Given the description of an element on the screen output the (x, y) to click on. 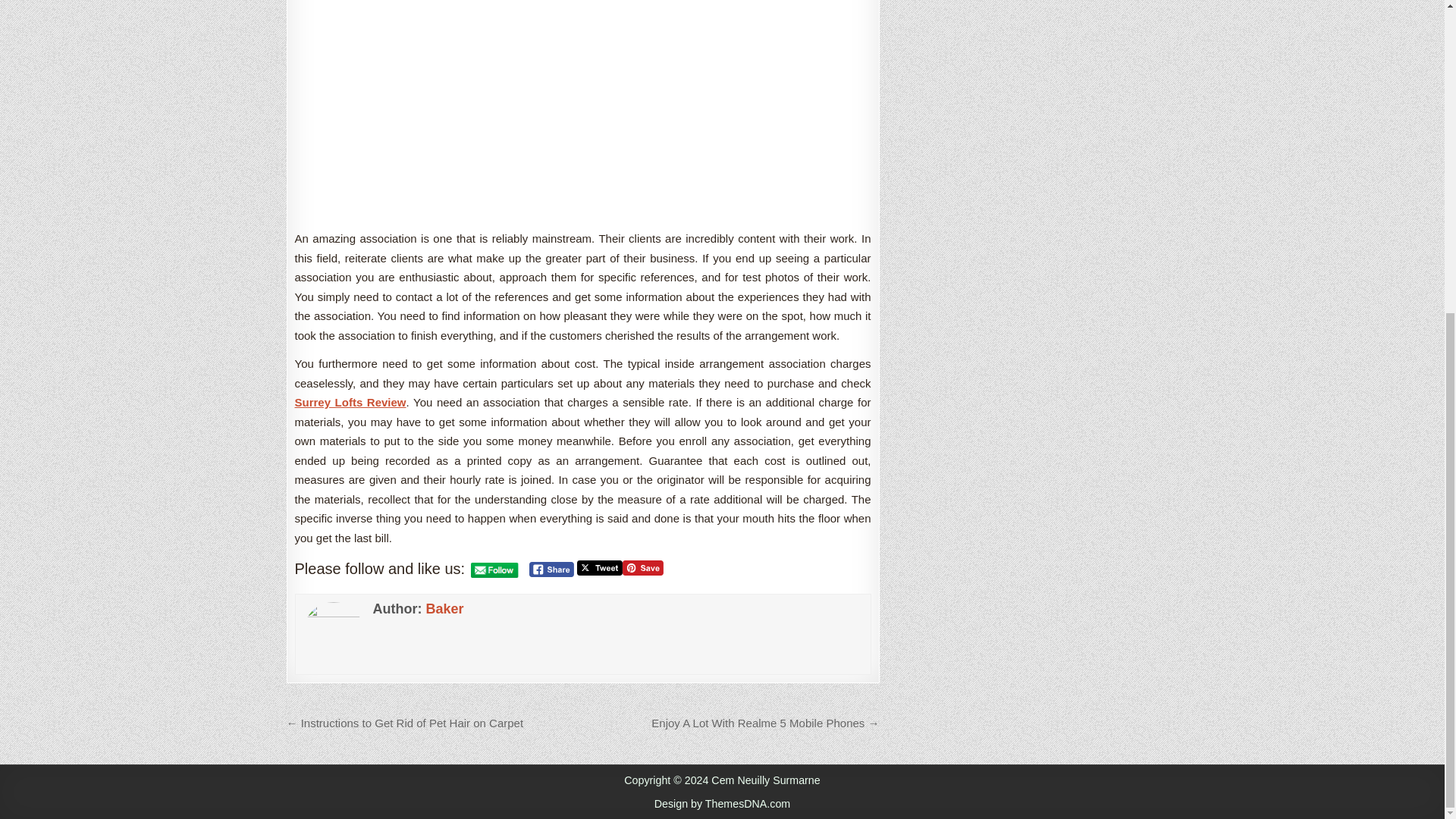
Baker (444, 608)
Facebook Share (551, 569)
Surrey Lofts Review (350, 401)
Design by ThemesDNA.com (721, 803)
Pin Share (643, 567)
Tweet (599, 567)
